Given the description of an element on the screen output the (x, y) to click on. 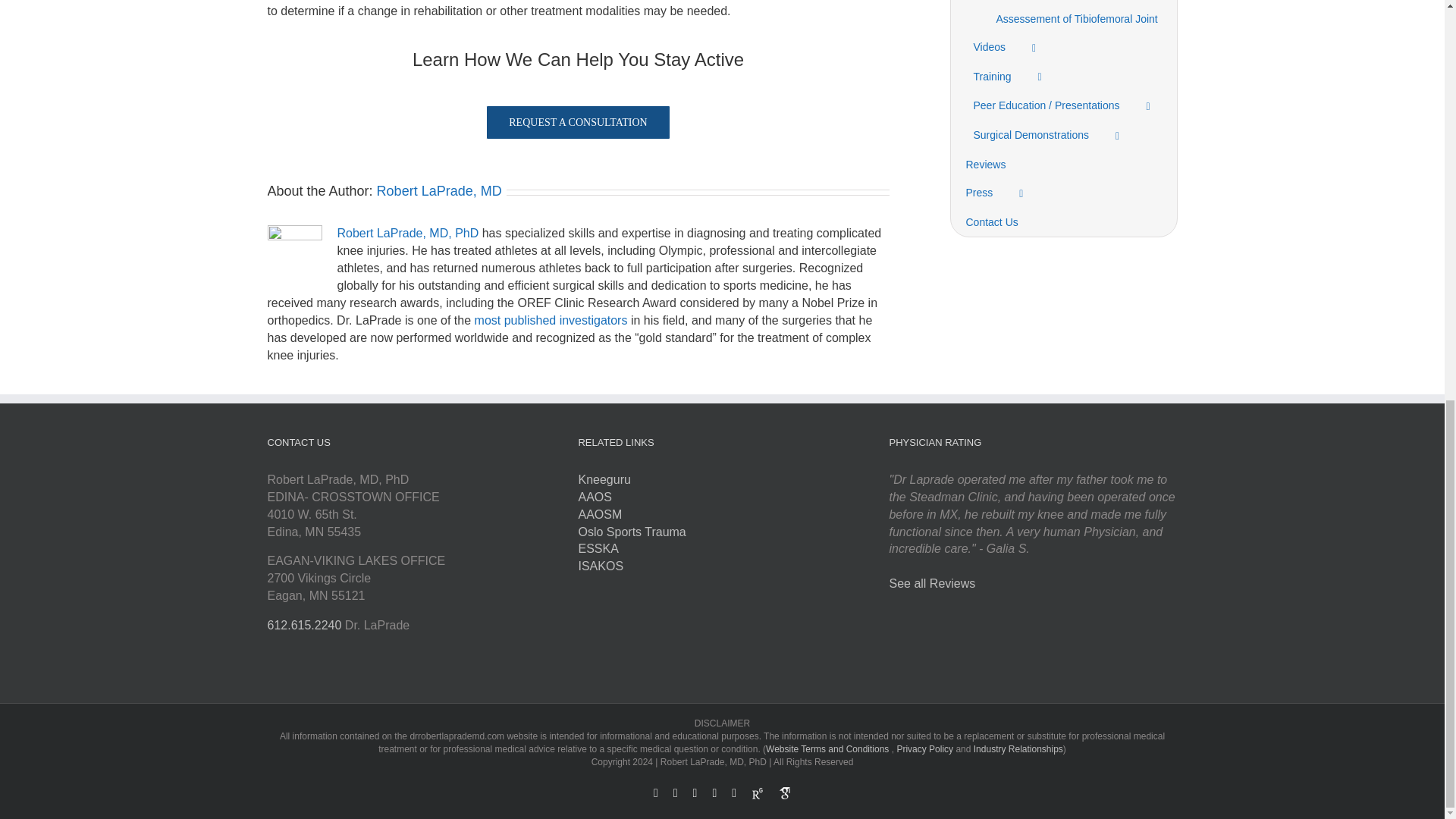
REQUEST A CONSULTATION (577, 122)
ResearchGate (756, 790)
Learn How We Can Help You Stay Active (577, 68)
Posts by Robert LaPrade, MD (439, 191)
